Given the description of an element on the screen output the (x, y) to click on. 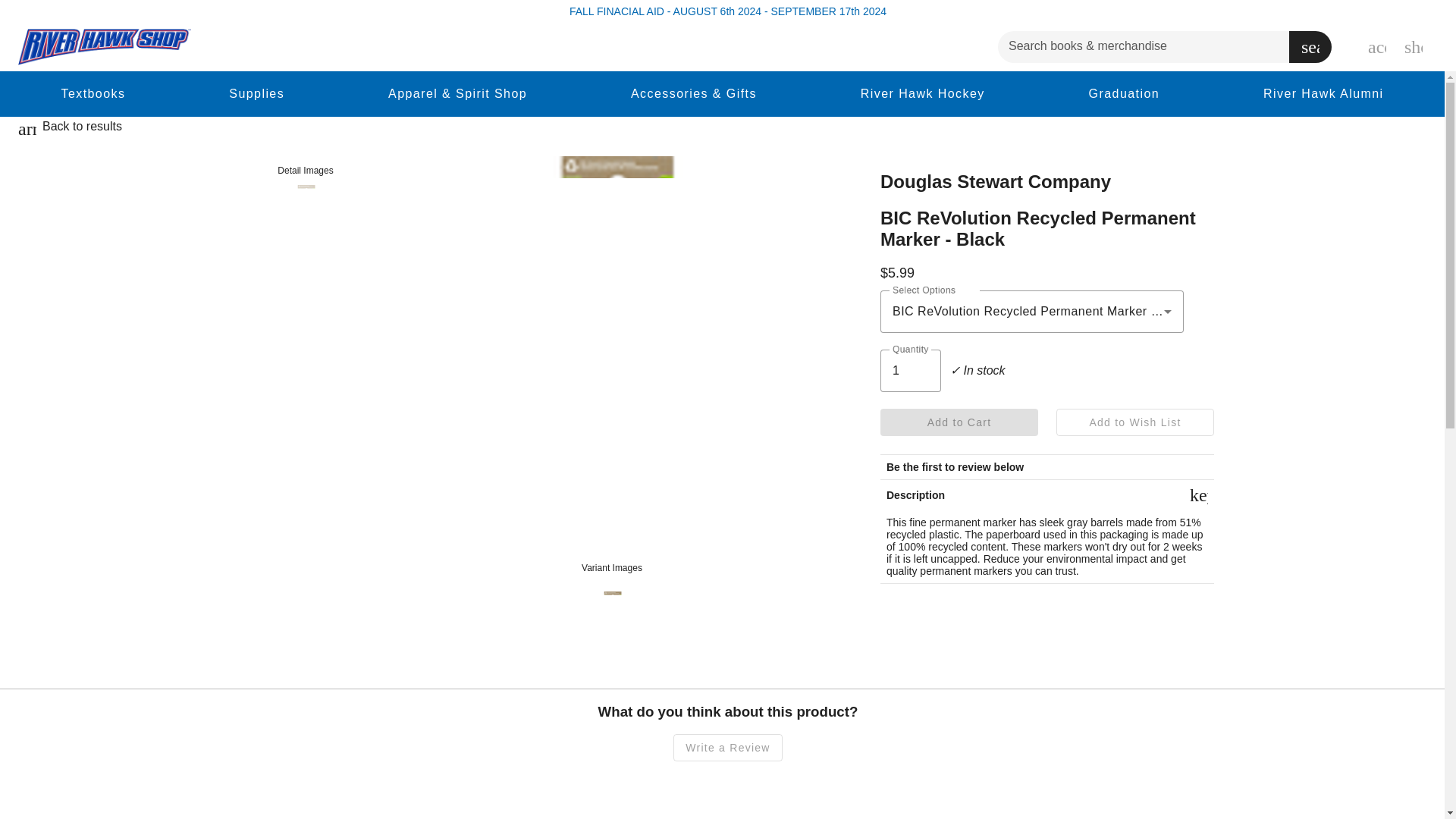
Add to Cart (959, 421)
Graduation (1124, 93)
Be the first to review below (954, 467)
Back to results (82, 128)
Add to Wish List (1135, 421)
River Hawk Hockey (922, 93)
Supplies (256, 93)
Textbooks (92, 93)
1 (910, 370)
River Hawk Alumni (1323, 93)
